Given the description of an element on the screen output the (x, y) to click on. 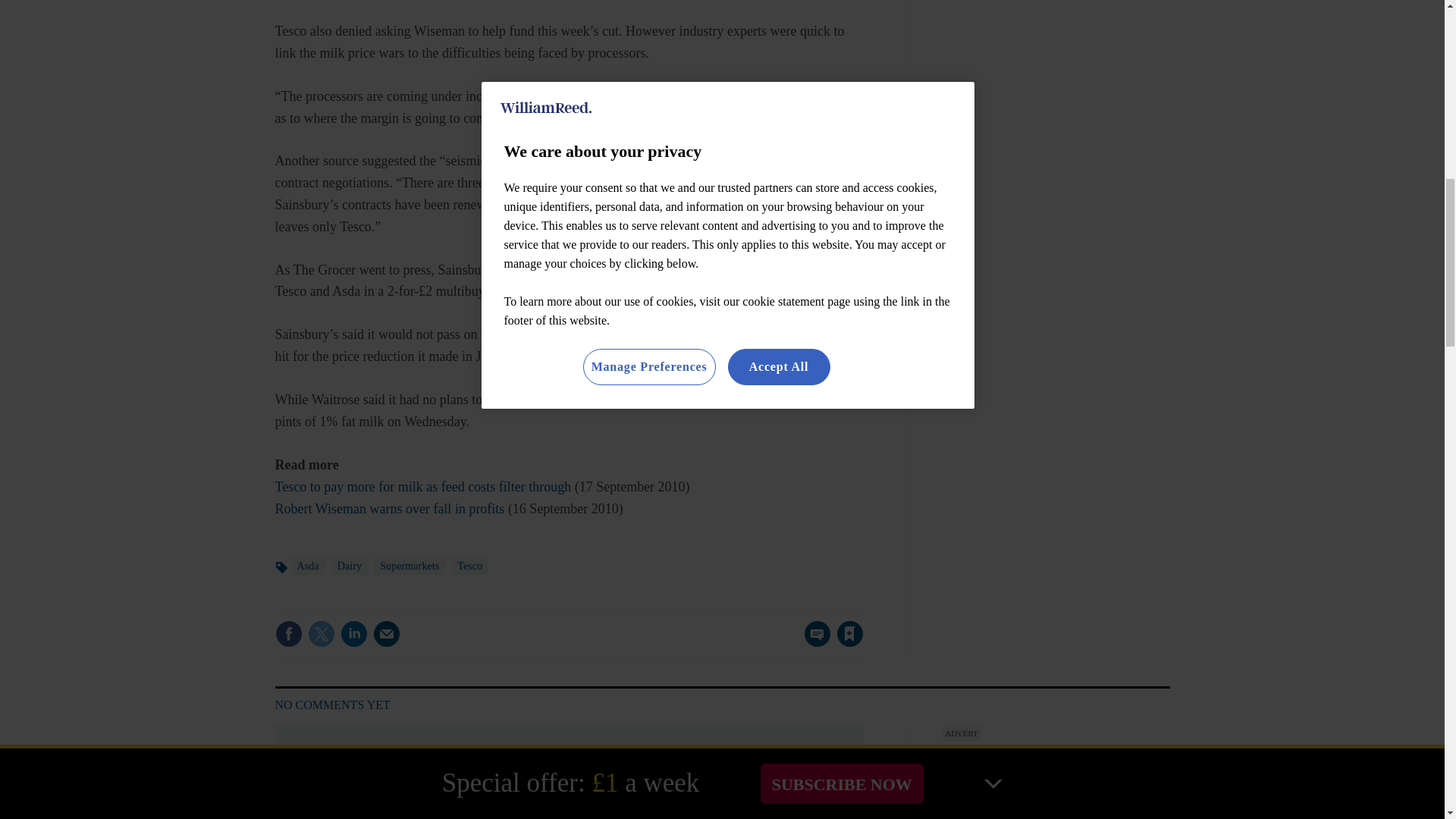
Share this on Facebook (288, 633)
Share this on Linked in (352, 633)
Share this on Twitter (320, 633)
No comments (812, 642)
Email this article (386, 633)
